Given the description of an element on the screen output the (x, y) to click on. 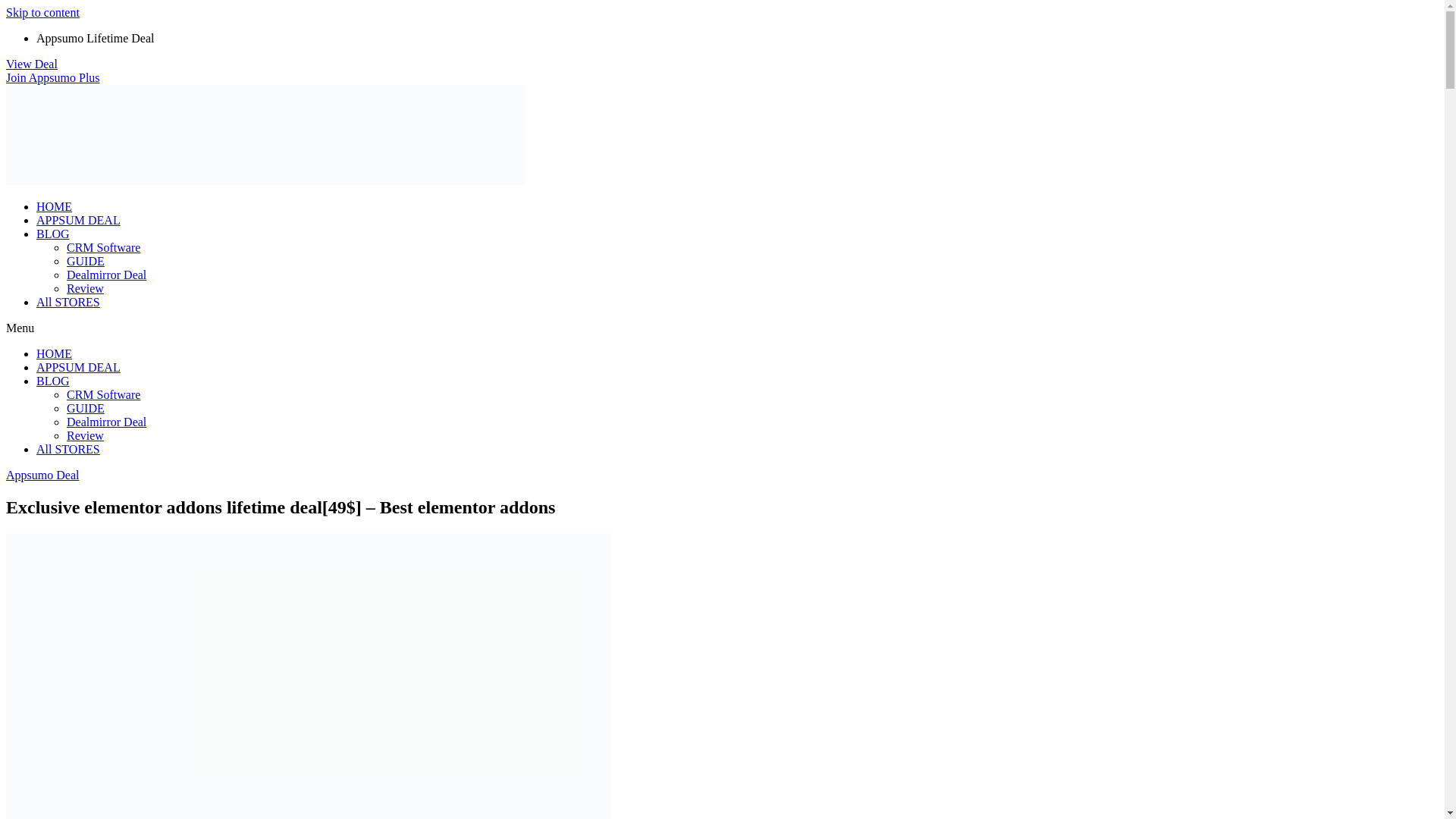
APPSUM DEAL (78, 367)
CRM Software (102, 246)
BLOG (52, 380)
Skip to content (42, 11)
Review (84, 435)
Join Appsumo Plus (52, 77)
All STORES (68, 449)
HOME (53, 205)
APPSUM DEAL (78, 219)
Dealmirror Deal (106, 421)
